Given the description of an element on the screen output the (x, y) to click on. 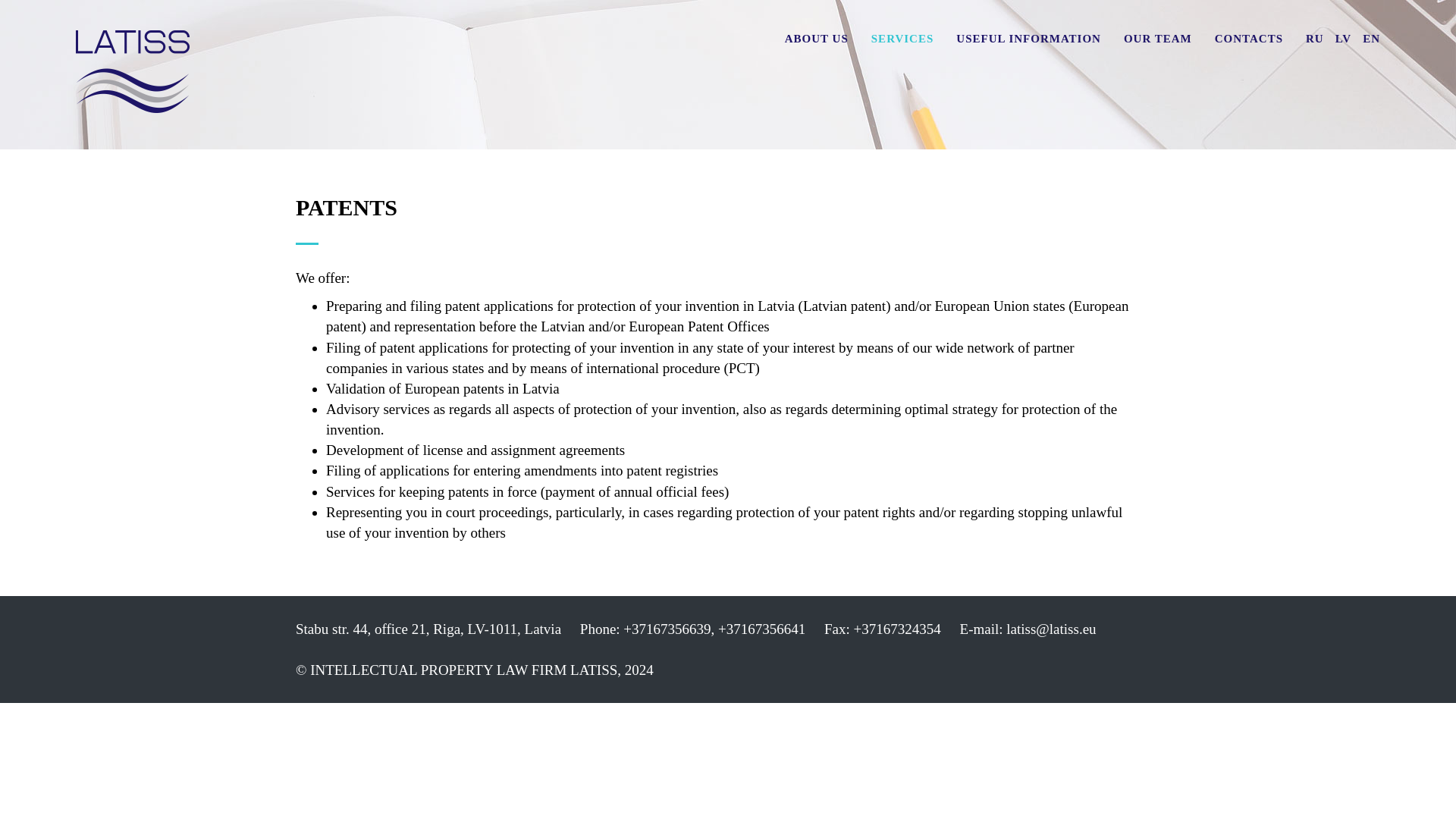
OUR TEAM (1158, 38)
USEFUL INFORMATION (1028, 38)
ABOUT US (816, 38)
SERVICES (902, 38)
CONTACTS (1249, 38)
